Given the description of an element on the screen output the (x, y) to click on. 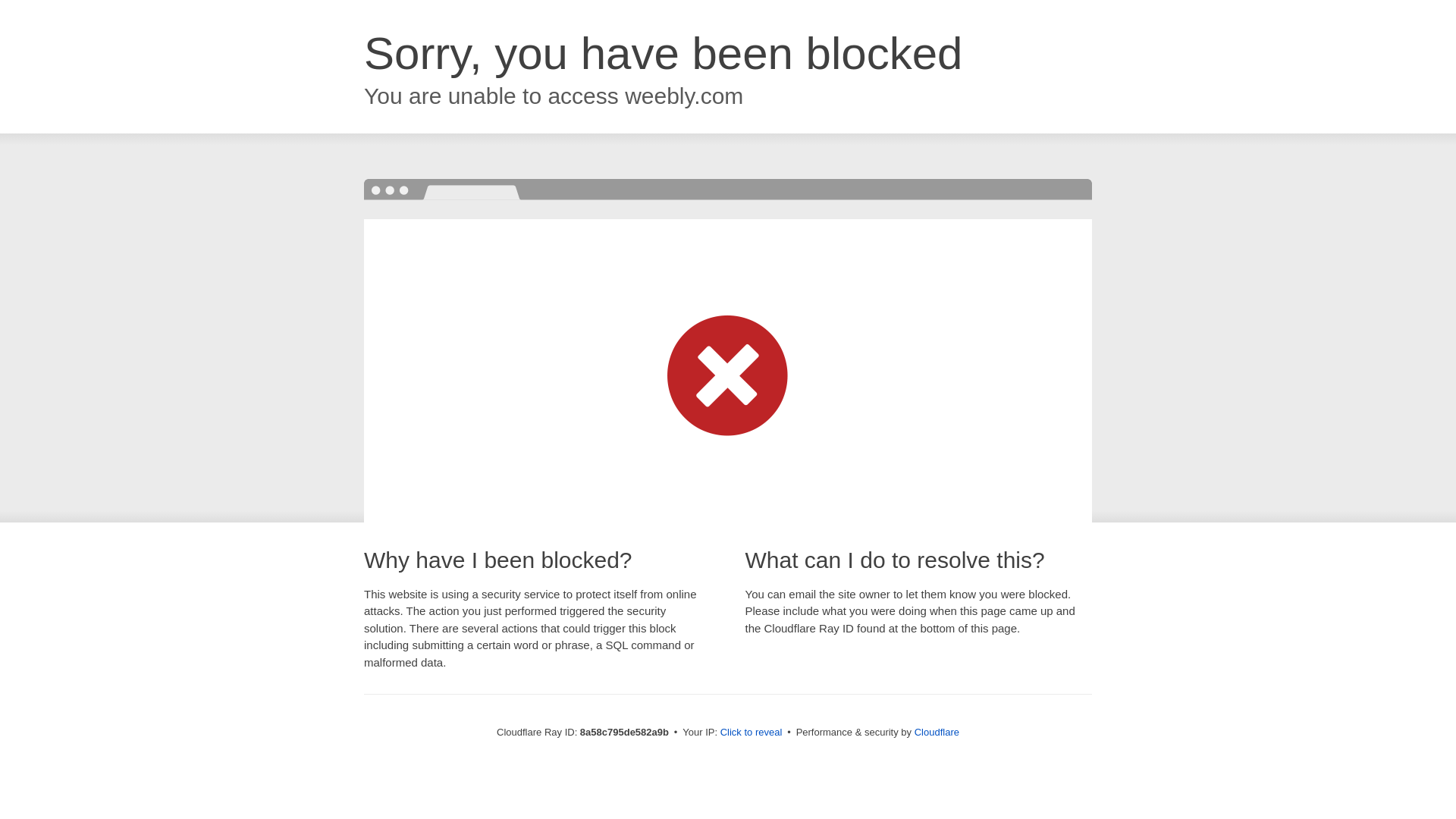
Click to reveal (751, 732)
Cloudflare (936, 731)
